Given the description of an element on the screen output the (x, y) to click on. 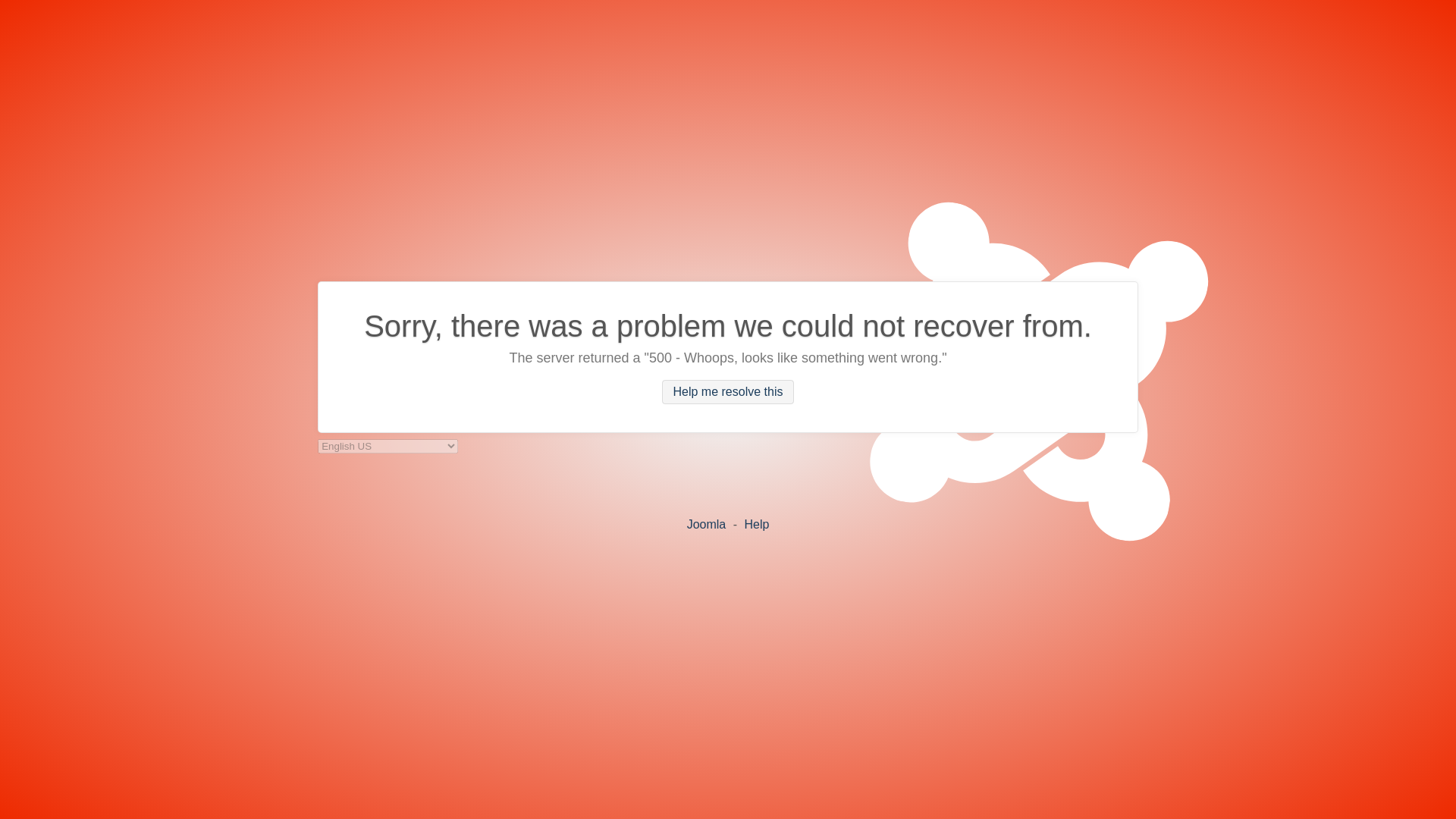
Help me resolve this (727, 392)
Help (756, 522)
Joomla (706, 522)
